Given the description of an element on the screen output the (x, y) to click on. 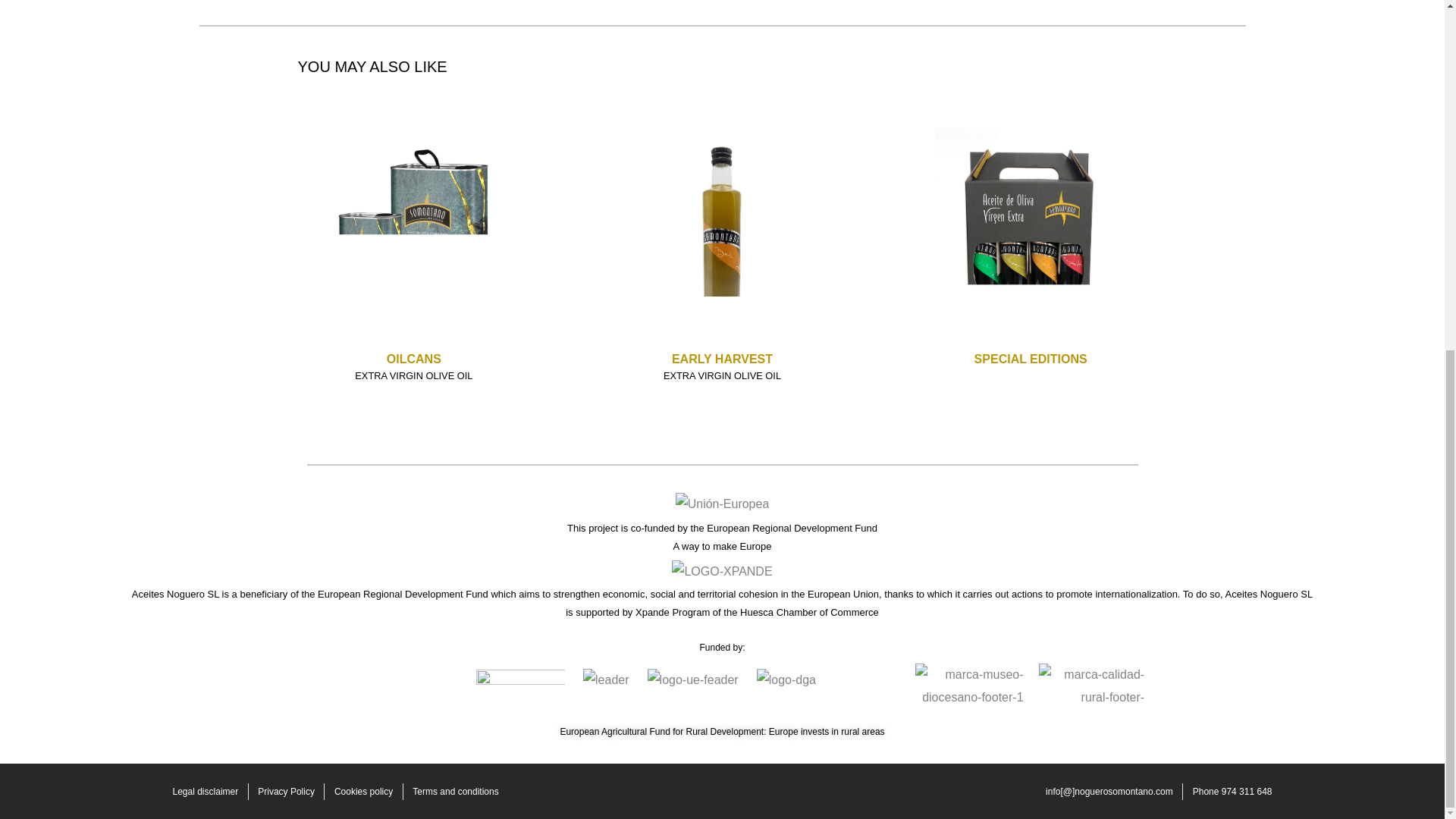
logo-dga (786, 680)
leader (605, 680)
Logotipo UE (722, 504)
LOGO-XPANDE (721, 571)
logo-ue-feader (692, 680)
